Given the description of an element on the screen output the (x, y) to click on. 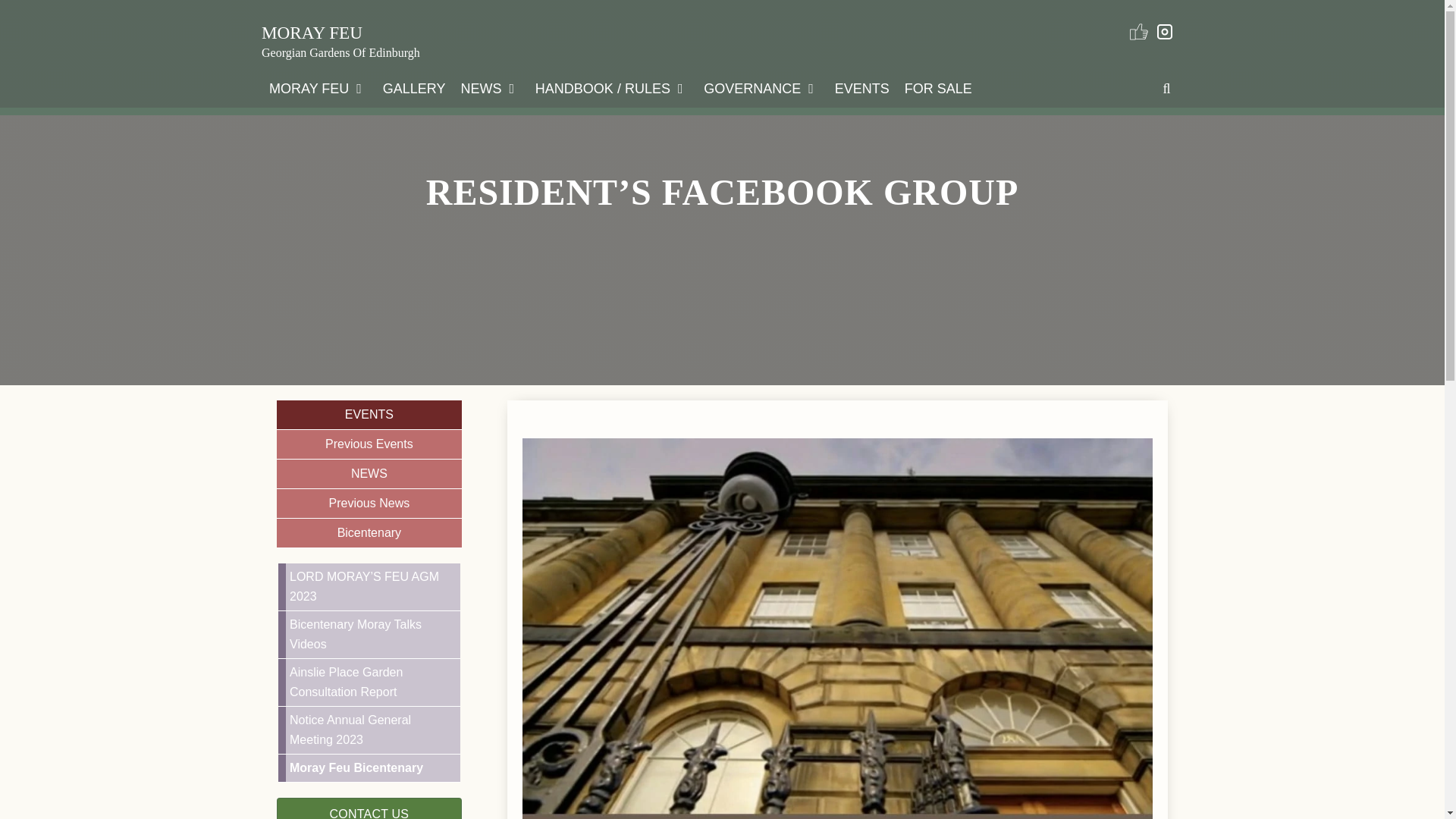
MORAY FEU (318, 88)
NEWS (368, 473)
Ainslie Place Garden Consultation Report (372, 682)
Moray Feu Bicentenary (372, 768)
GALLERY (413, 88)
GOVERNANCE (761, 88)
FOR SALE (937, 88)
Notice Annual General Meeting 2023 (372, 729)
EVENTS (368, 414)
NEWS (489, 88)
Previous News (368, 503)
MORAY FEU (312, 32)
EVENTS (861, 88)
Previous Events (368, 444)
Bicentenary Moray Talks Videos (372, 634)
